Given the description of an element on the screen output the (x, y) to click on. 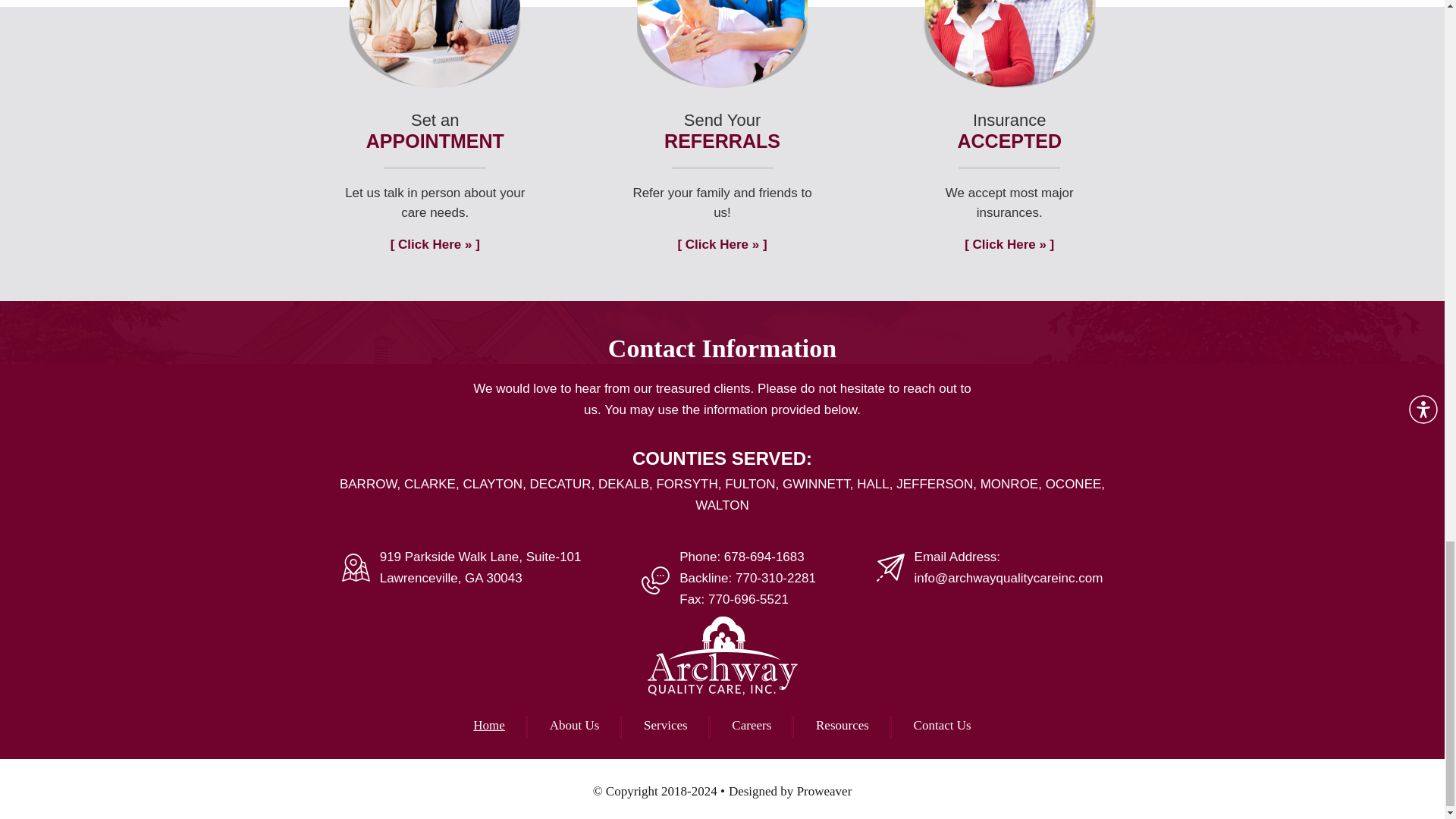
Resources (841, 725)
Home (488, 725)
Services (665, 725)
Contact Us (942, 725)
Careers (751, 725)
About Us (574, 725)
Proweaver (823, 790)
